Given the description of an element on the screen output the (x, y) to click on. 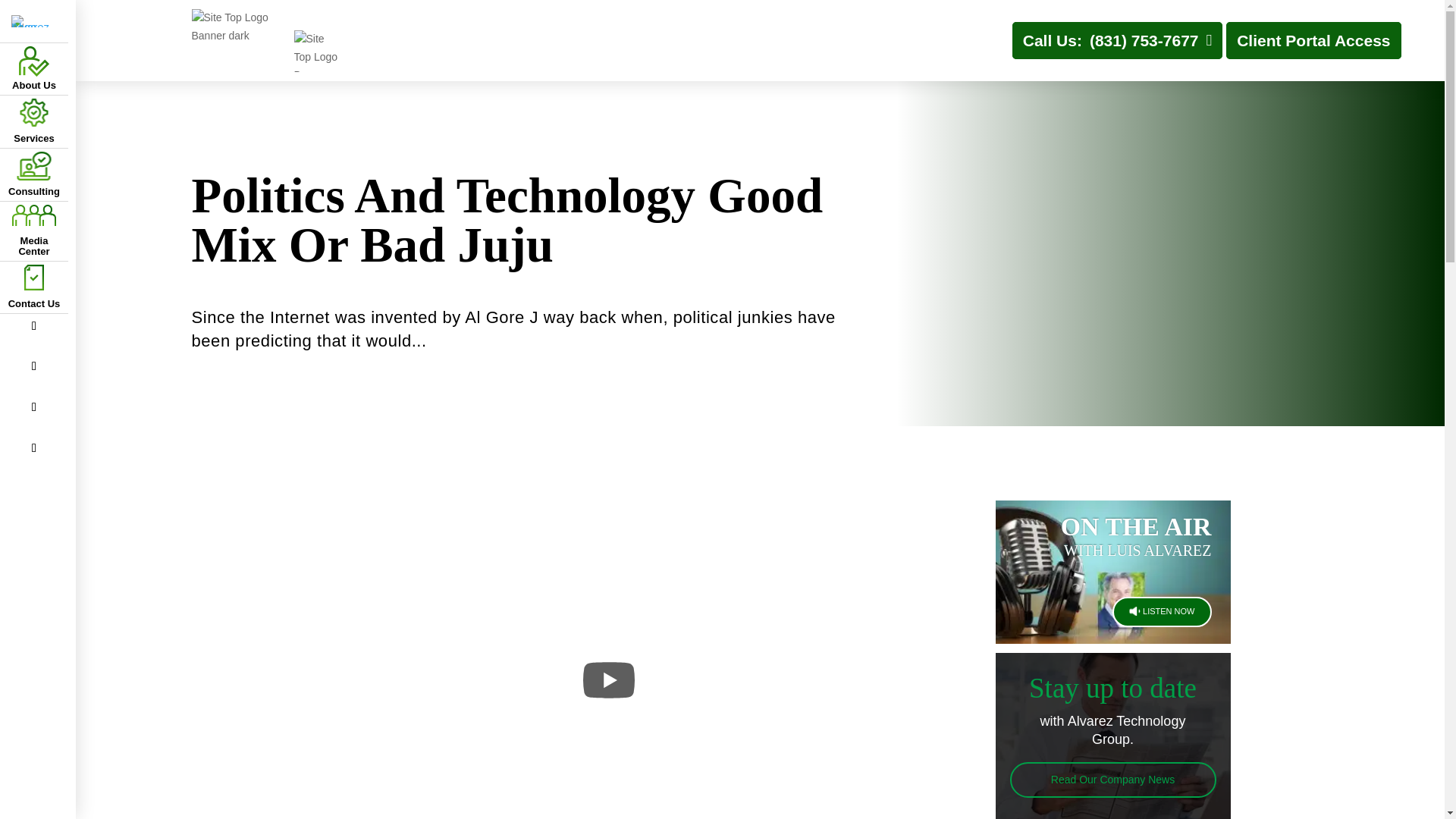
Alvarez Logo (33, 21)
Follow on X (33, 365)
Media Center (34, 230)
Consulting (34, 174)
Follow on LinkedIn (33, 406)
Follow on Facebook (33, 325)
Contact Us (34, 286)
Services (34, 121)
About Us (34, 67)
Follow on Youtube (33, 447)
